Given the description of an element on the screen output the (x, y) to click on. 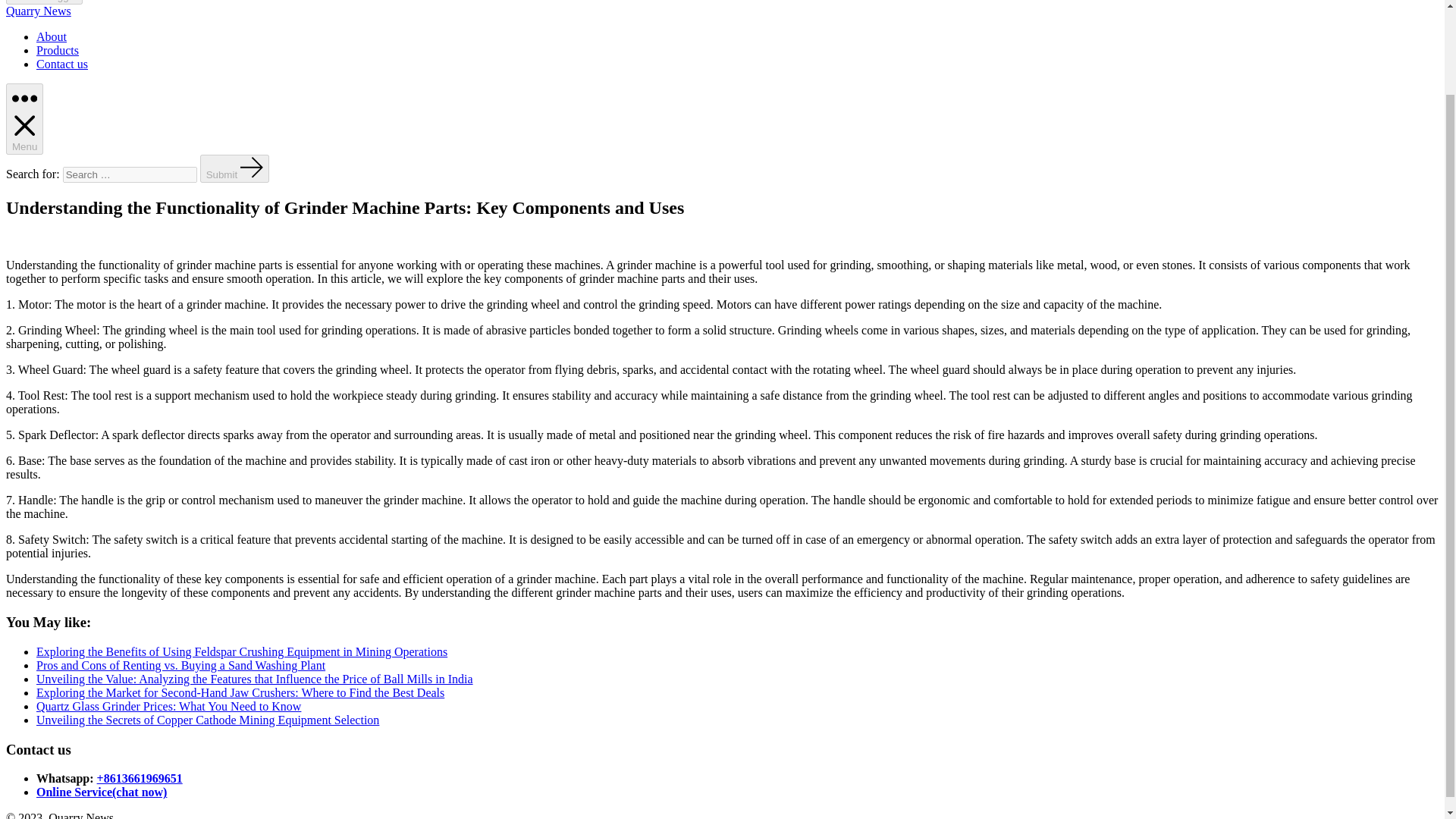
Pros and Cons of Renting vs. Buying a Sand Washing Plant (180, 665)
About (51, 36)
Search Toggle (43, 2)
Products (57, 50)
Quartz Glass Grinder Prices: What You Need to Know (168, 706)
Quarry News (38, 10)
Submit (234, 168)
Contact us (61, 63)
